Given the description of an element on the screen output the (x, y) to click on. 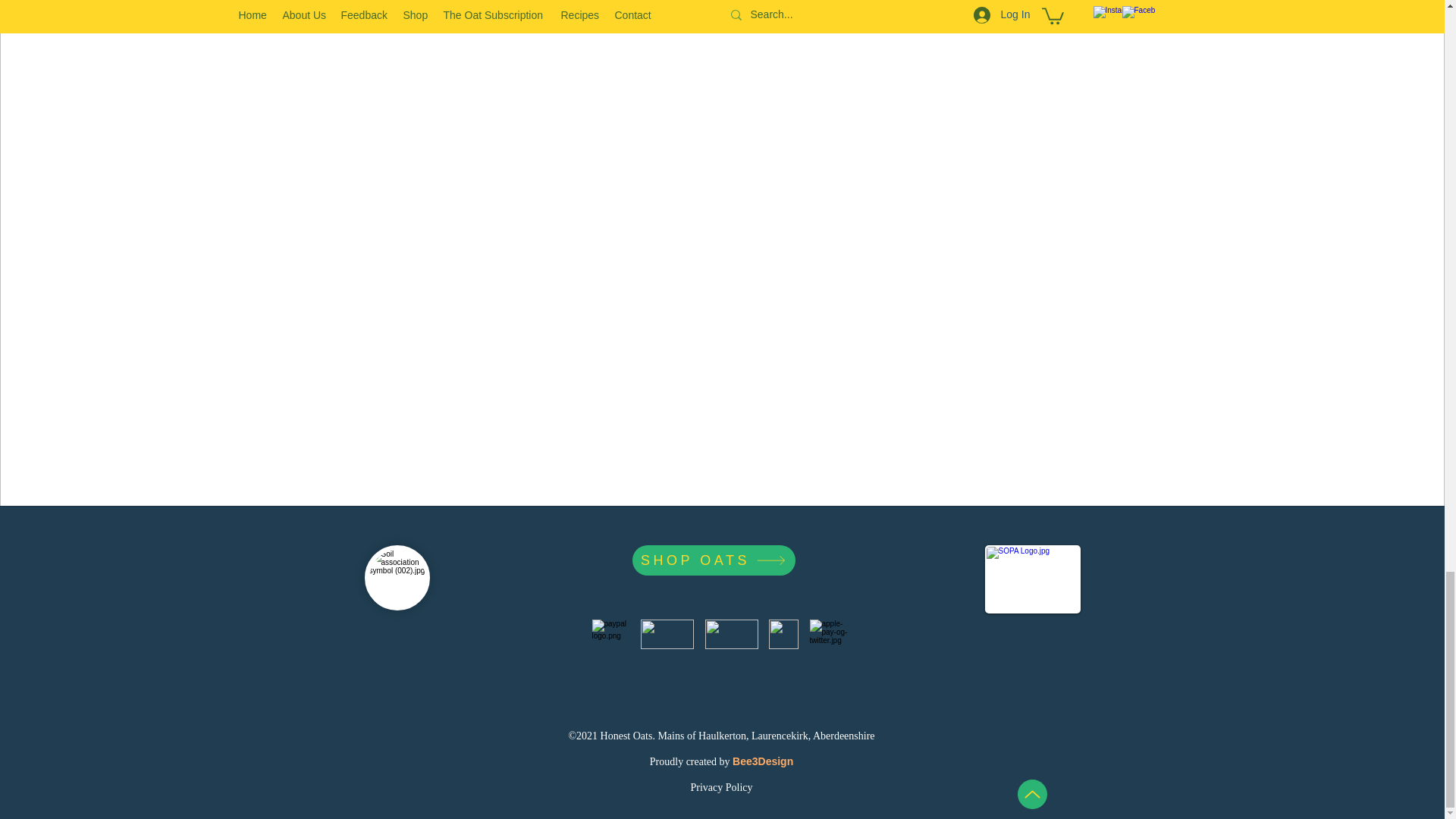
visa logo.png (731, 634)
amex logo.png (782, 634)
SHOP OATS (712, 560)
